Given the description of an element on the screen output the (x, y) to click on. 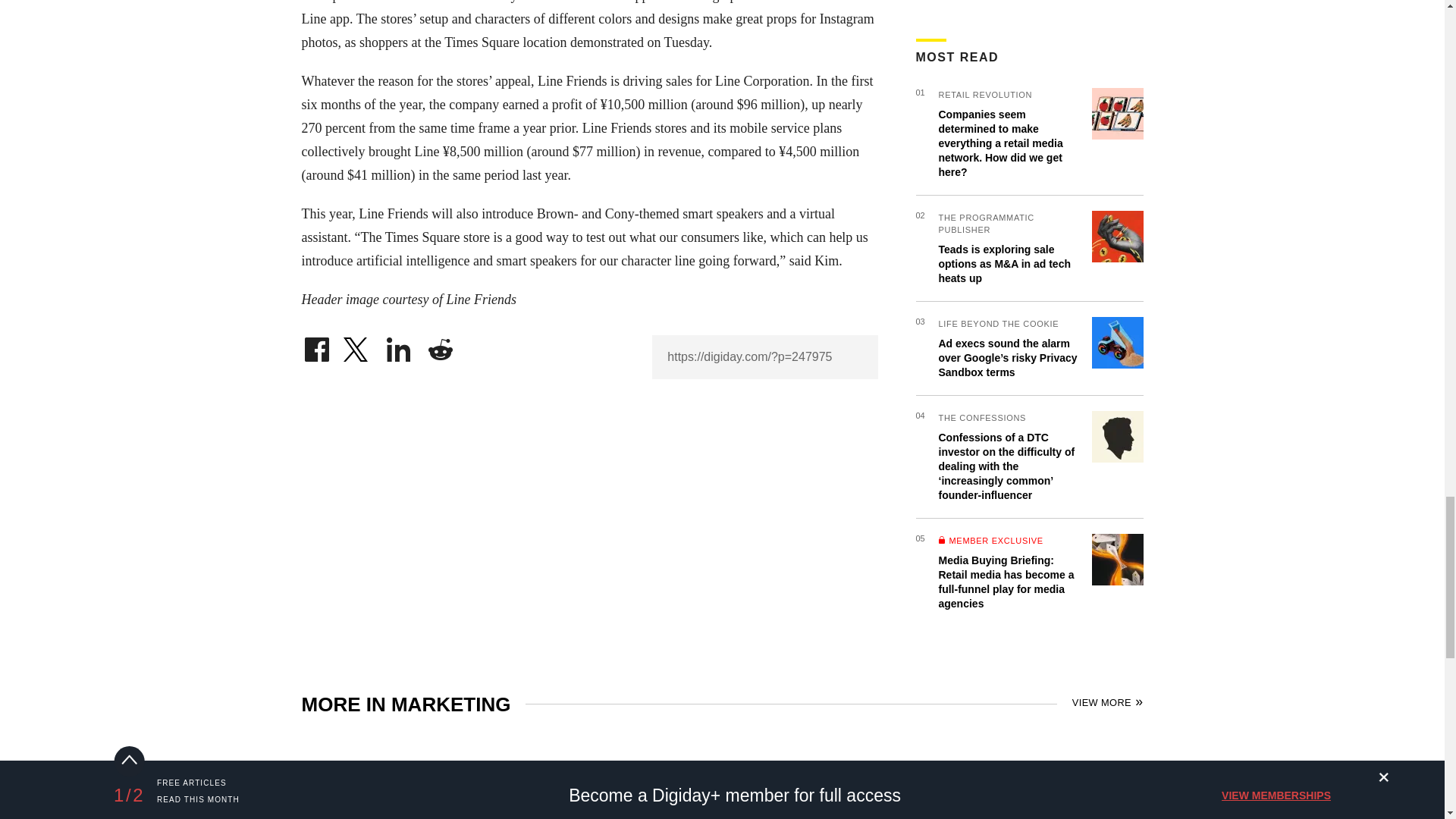
Share on Twitter (357, 345)
Share on Facebook (316, 345)
Share on LinkedIn (398, 345)
Share on Reddit (440, 345)
